Given the description of an element on the screen output the (x, y) to click on. 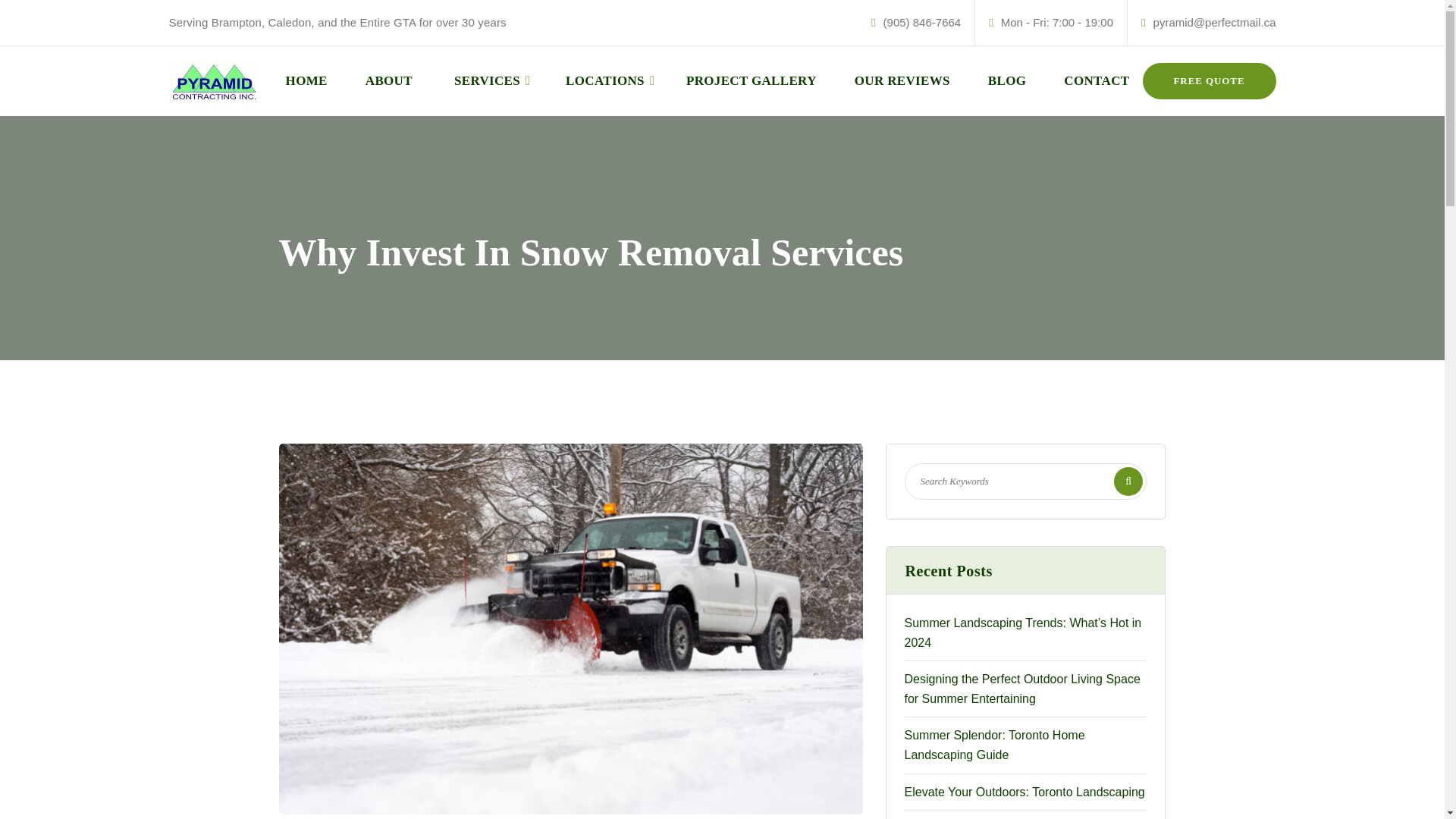
SERVICES (486, 80)
LOCATIONS (605, 80)
FREE QUOTE (1209, 81)
PROJECT GALLERY (750, 80)
OUR REVIEWS (902, 80)
CONTACT (1096, 80)
